Given the description of an element on the screen output the (x, y) to click on. 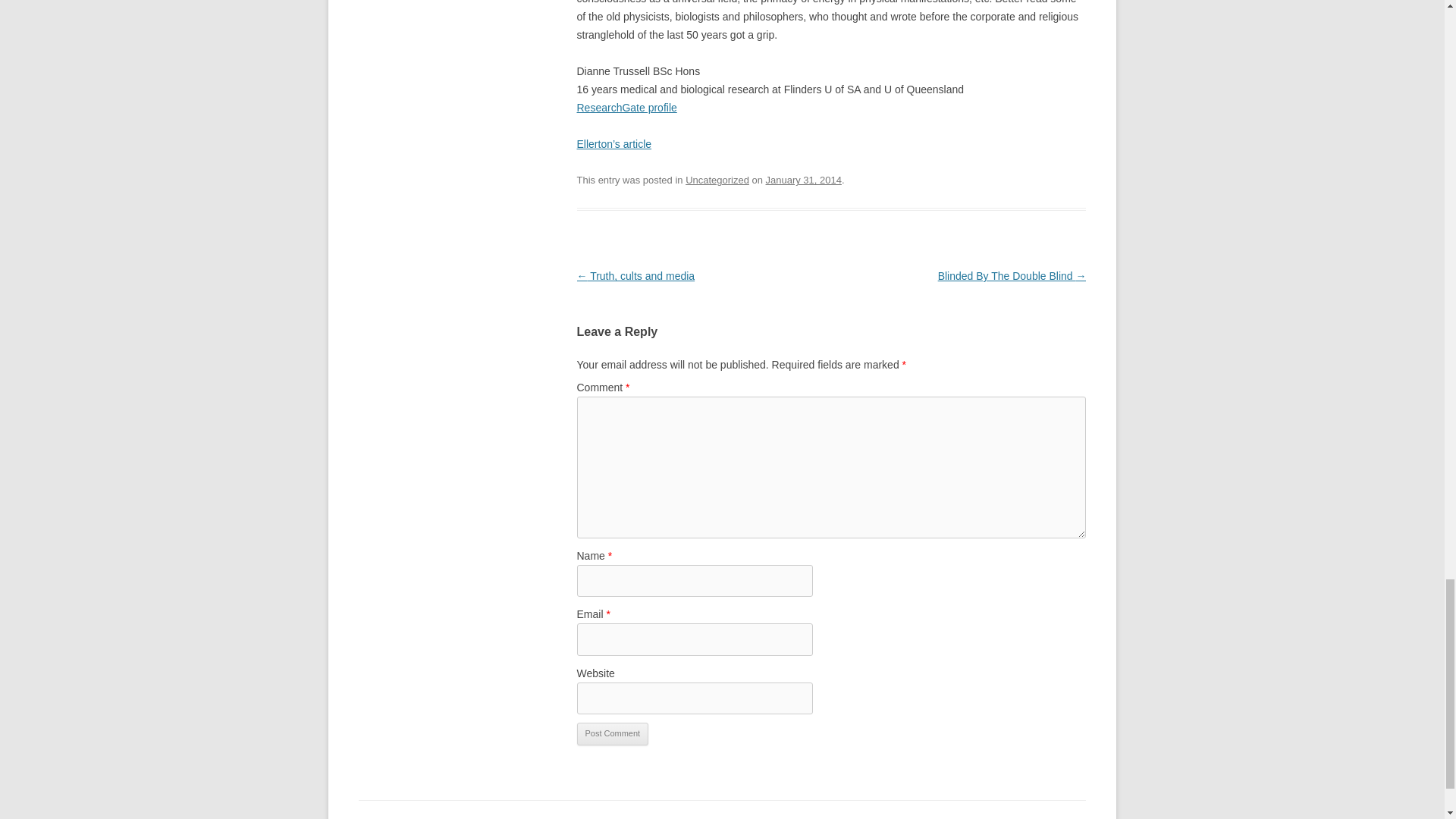
Uncategorized (717, 179)
ResearchGate (626, 107)
Post Comment (611, 733)
Post Comment (611, 733)
Ellerton's article (613, 143)
ResearchGate profile (626, 107)
10:14 pm (803, 179)
January 31, 2014 (803, 179)
